Given the description of an element on the screen output the (x, y) to click on. 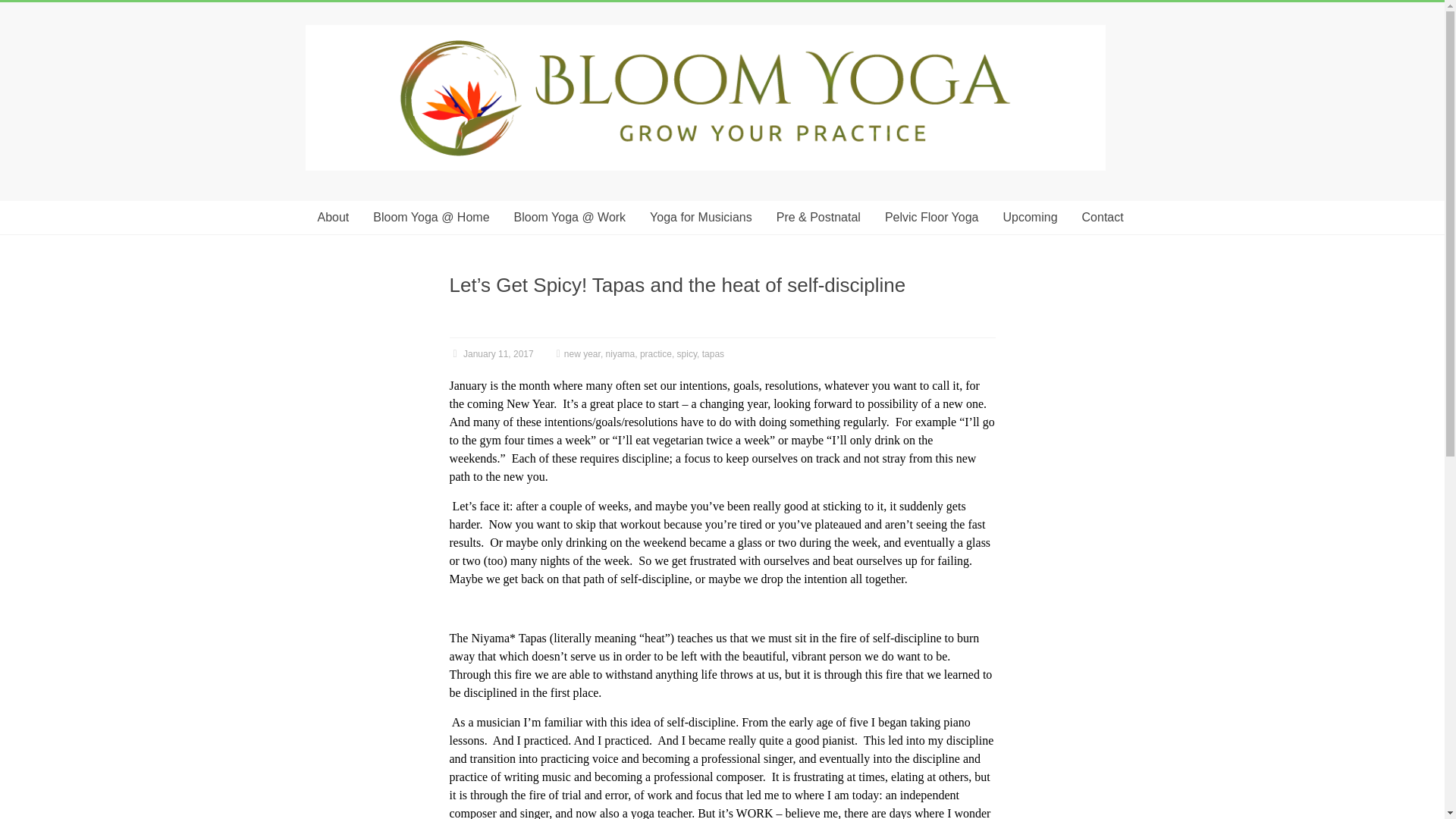
Upcoming (1030, 217)
practice (655, 353)
tapas (712, 353)
About (332, 217)
Pelvic Floor Yoga (931, 217)
Yoga for Musicians (700, 217)
Bloom Yoga (704, 31)
January 11, 2017 (490, 353)
niyama (619, 353)
Contact (1102, 217)
new year (581, 353)
spicy (687, 353)
4:45 pm (490, 353)
